Given the description of an element on the screen output the (x, y) to click on. 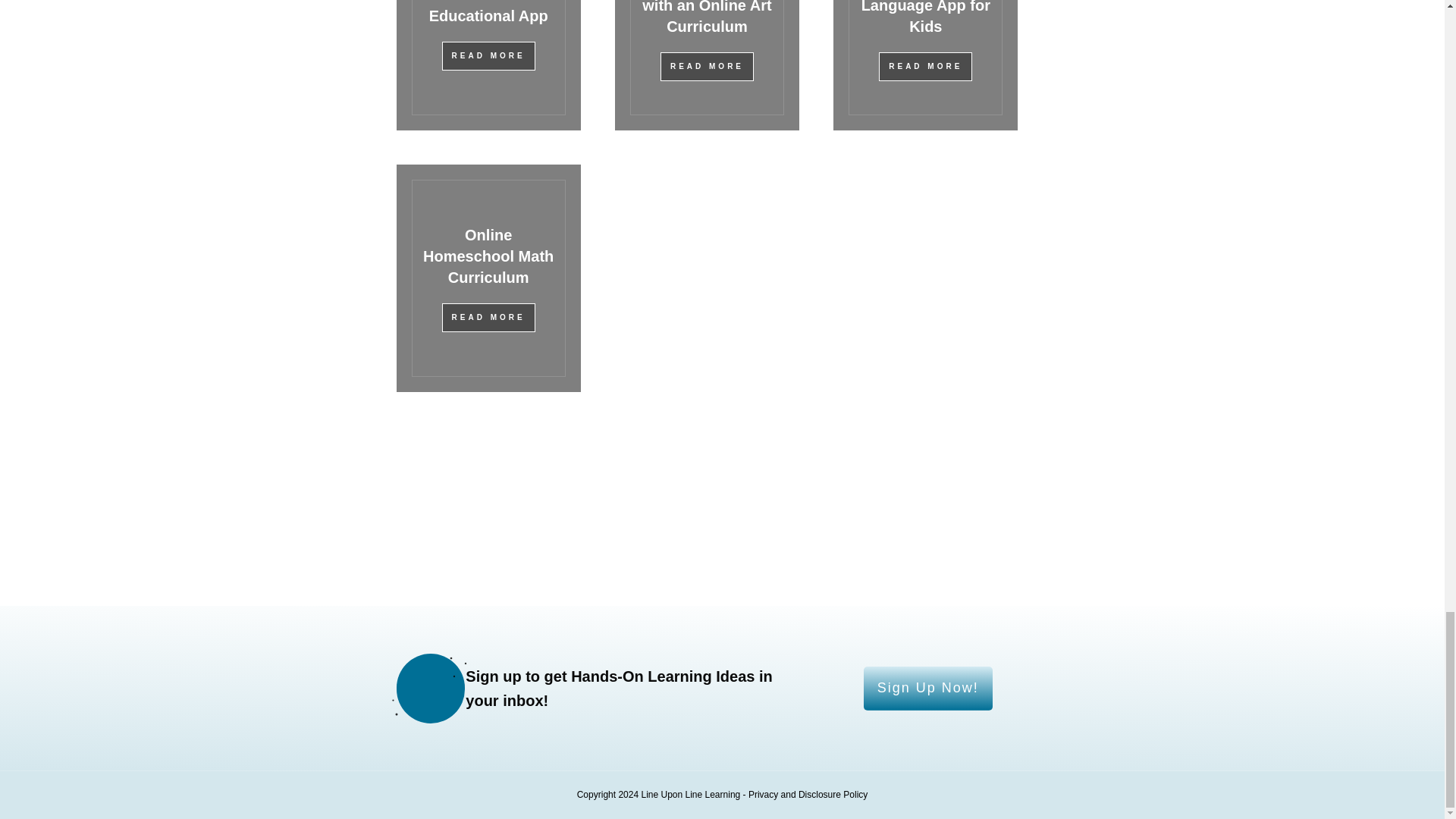
An Entertaining Spanish Language App for Kids (925, 17)
Learn Phonics with an Educational App (488, 12)
Online Homeschool Math Curriculum (488, 255)
Learn Phonics with an Educational App (488, 12)
